Given the description of an element on the screen output the (x, y) to click on. 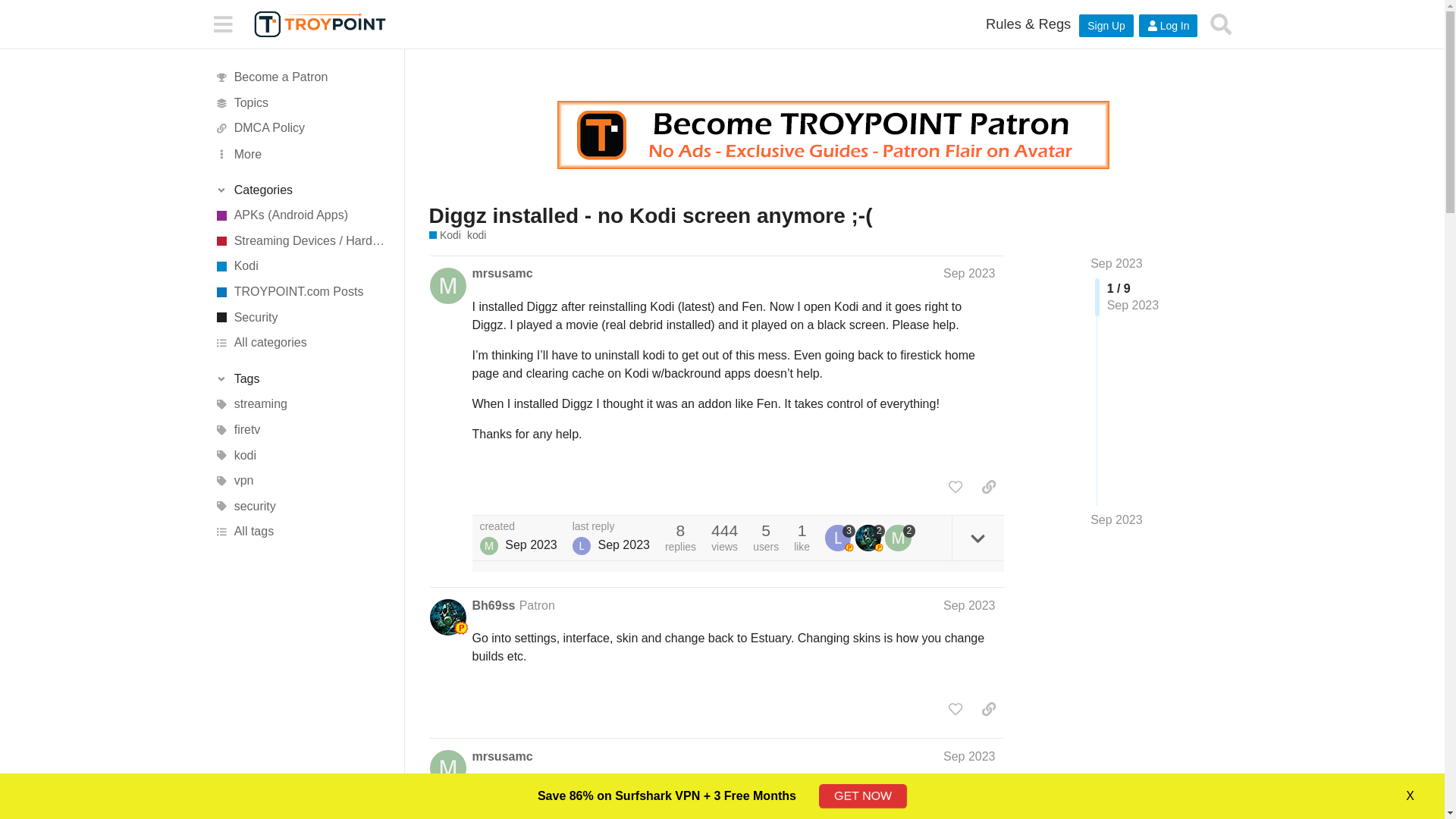
Categories (301, 190)
Sep 2023 (1116, 263)
Toggle section (301, 190)
Sep 2023 (1116, 519)
vpn (301, 481)
kodi (476, 235)
All topics (301, 103)
important forum rules and regulations (1027, 23)
mrsusamc (501, 273)
Toggle section (301, 379)
Sign Up (1105, 25)
Security (301, 317)
firetv (301, 429)
Sep 2023 (969, 273)
More (301, 153)
